Given the description of an element on the screen output the (x, y) to click on. 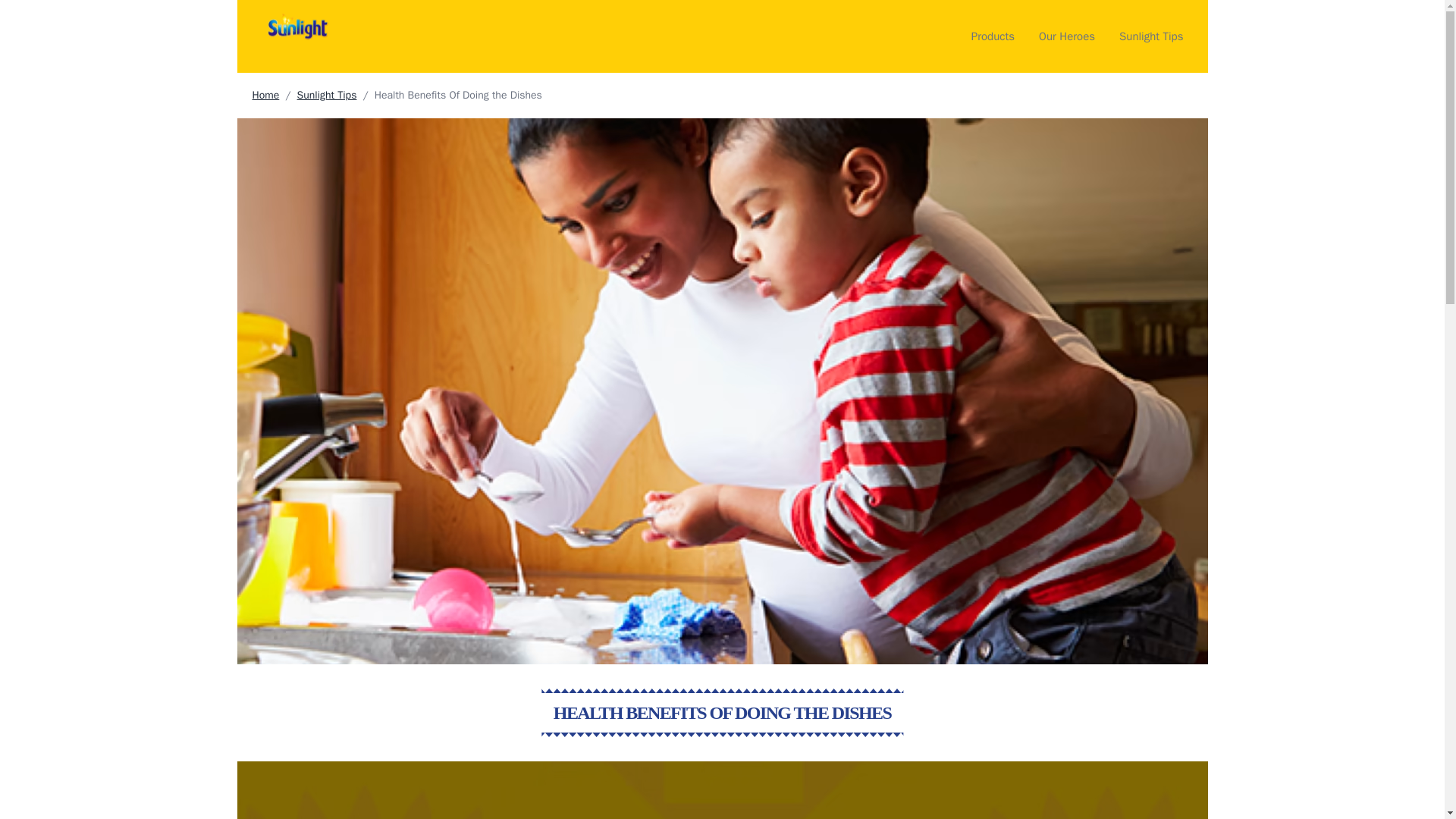
Sunlight Tips (1150, 36)
Our Heroes (1066, 36)
Sunlight Tips (326, 94)
Products (992, 36)
Home (265, 94)
